Given the description of an element on the screen output the (x, y) to click on. 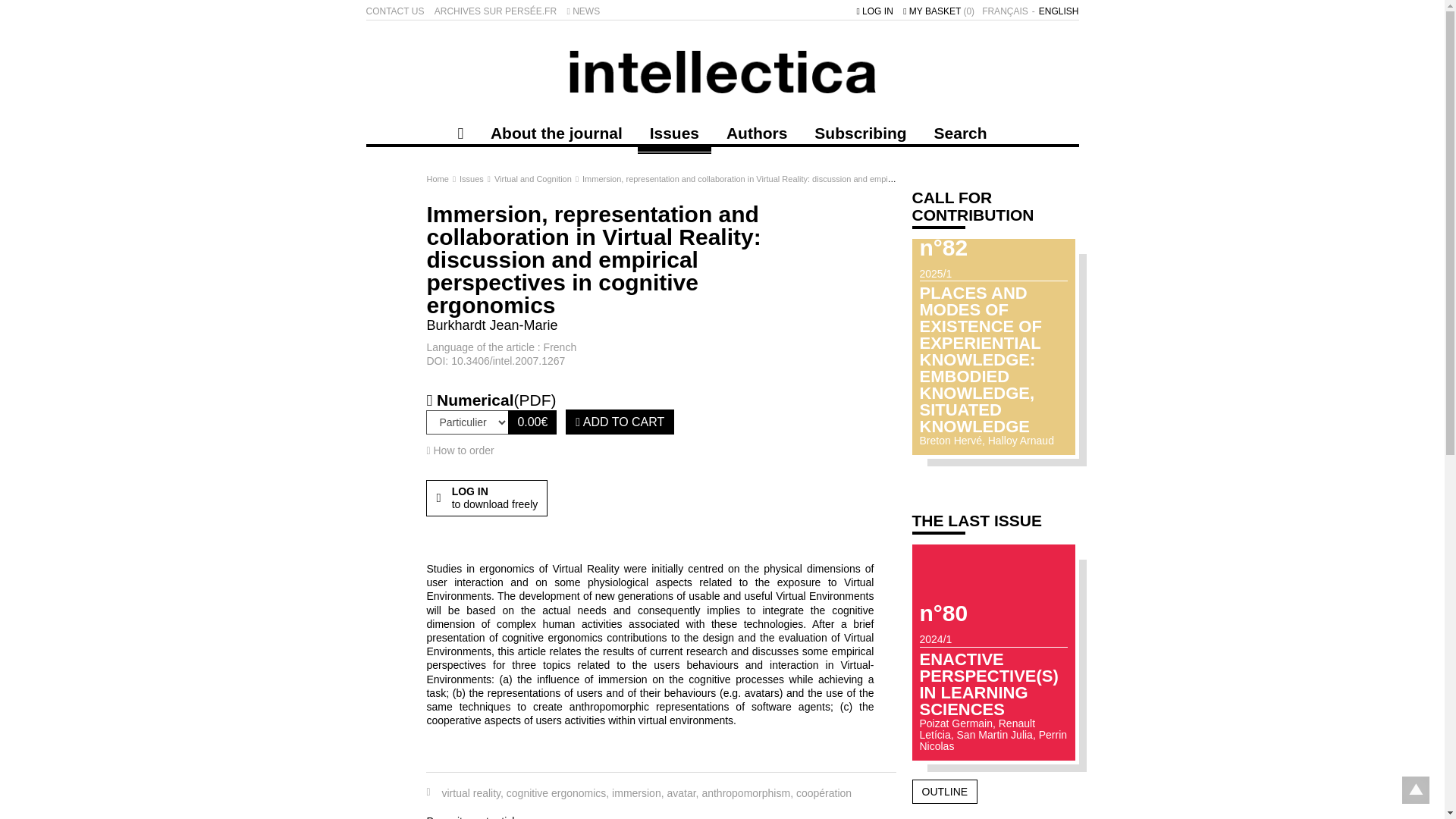
ENGLISH (1058, 11)
CONTACT US (394, 10)
NEWS (582, 10)
Home (437, 178)
About the journal (556, 131)
LOG IN (874, 10)
Issues (674, 131)
